Given the description of an element on the screen output the (x, y) to click on. 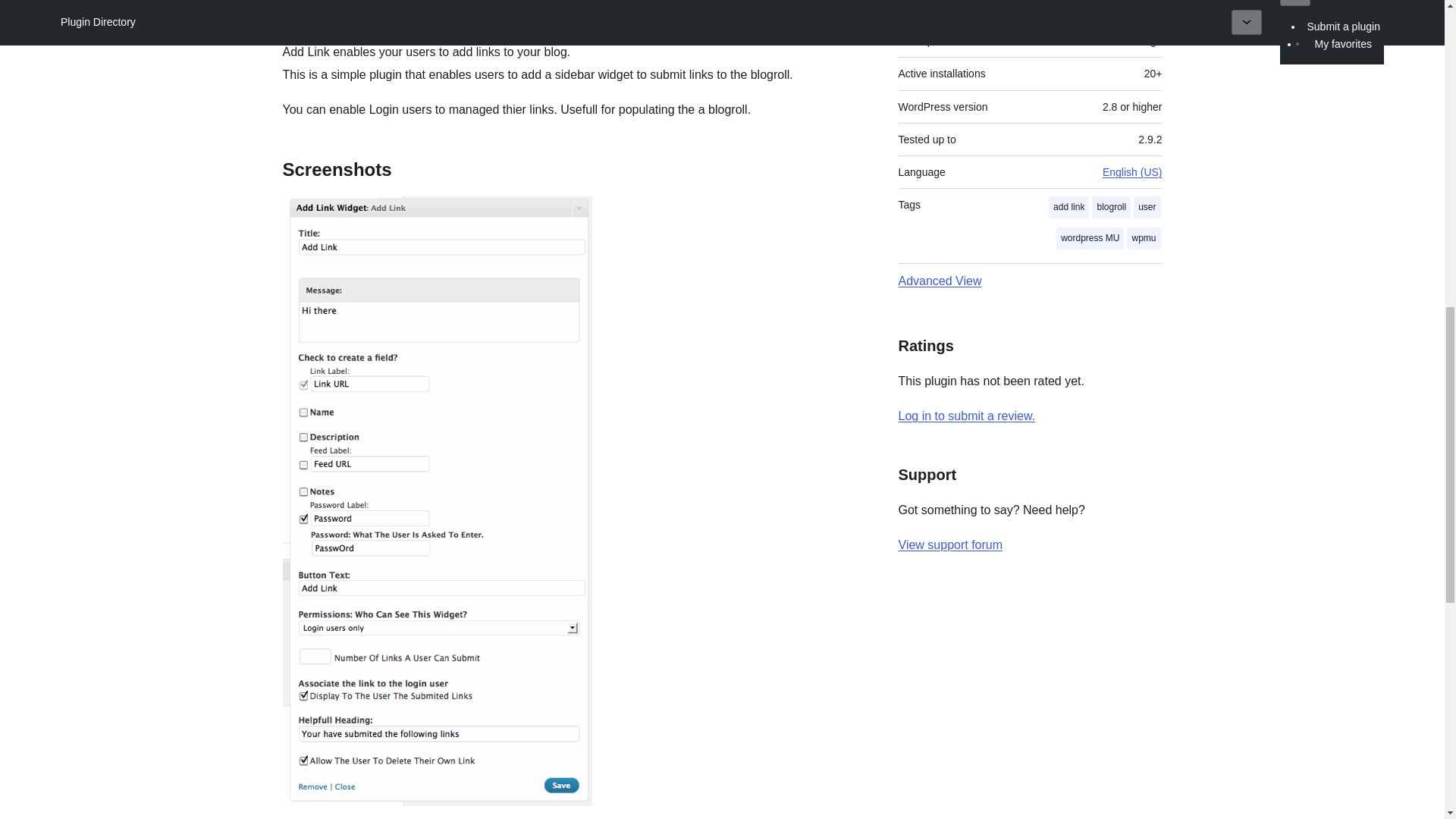
Log in to WordPress.org (966, 415)
